Given the description of an element on the screen output the (x, y) to click on. 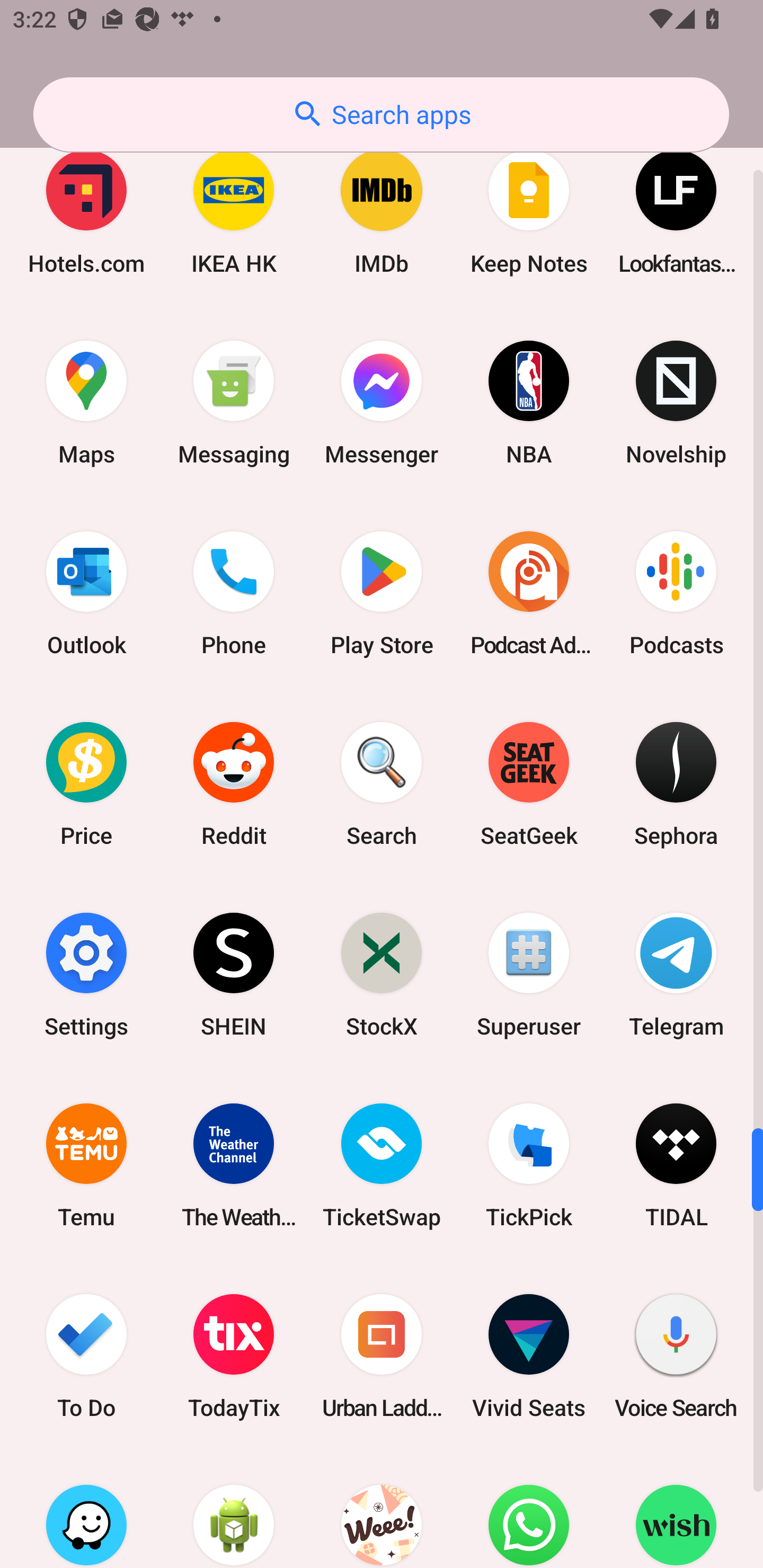
To Do (86, 1355)
